Given the description of an element on the screen output the (x, y) to click on. 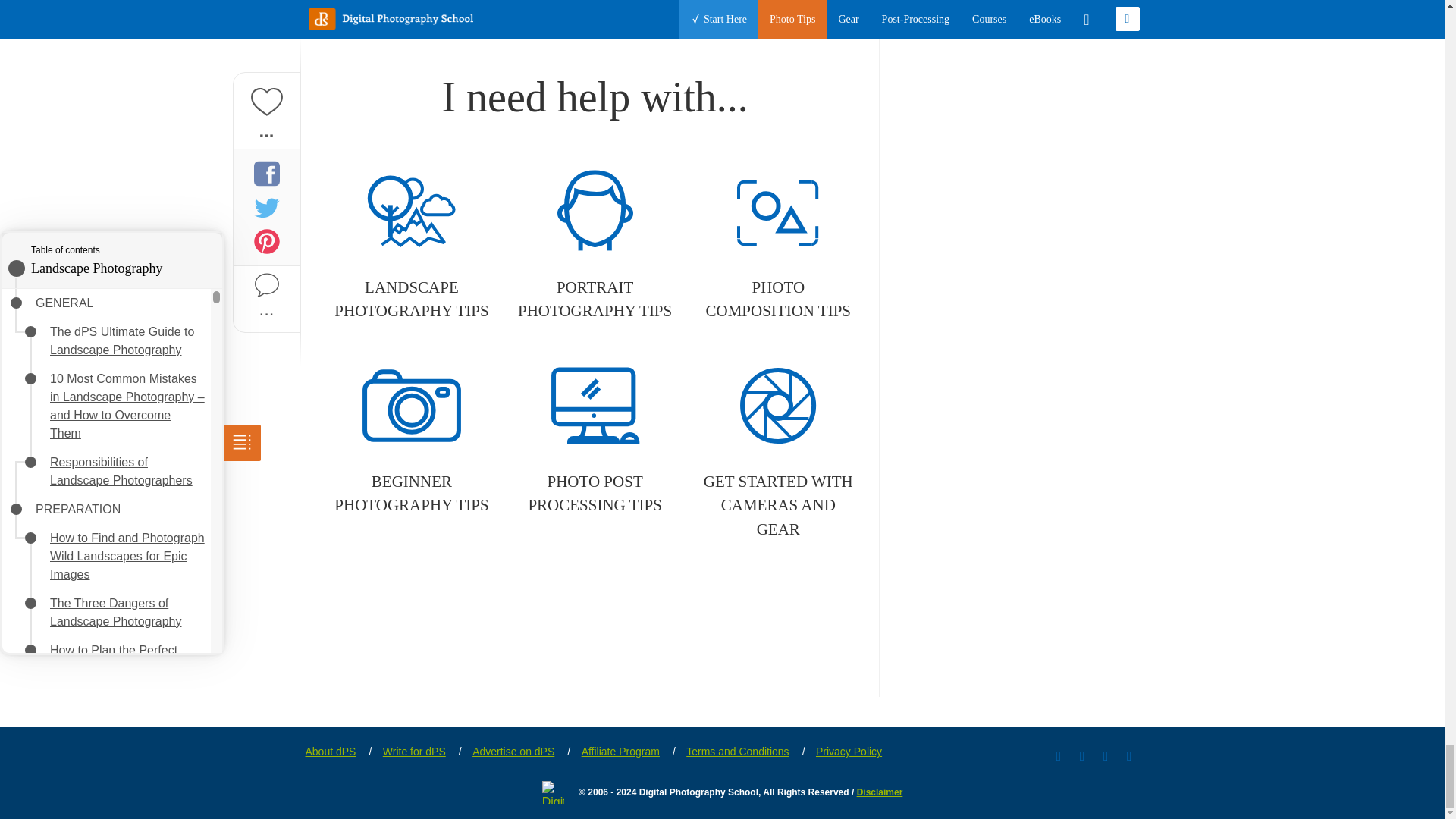
Landscape Photography Tips (411, 245)
Photo Composition Tips (778, 245)
Photo Post Processing Tips (595, 439)
Portrait Photography Tips (595, 245)
Beginner Photography Tips (411, 439)
